Given the description of an element on the screen output the (x, y) to click on. 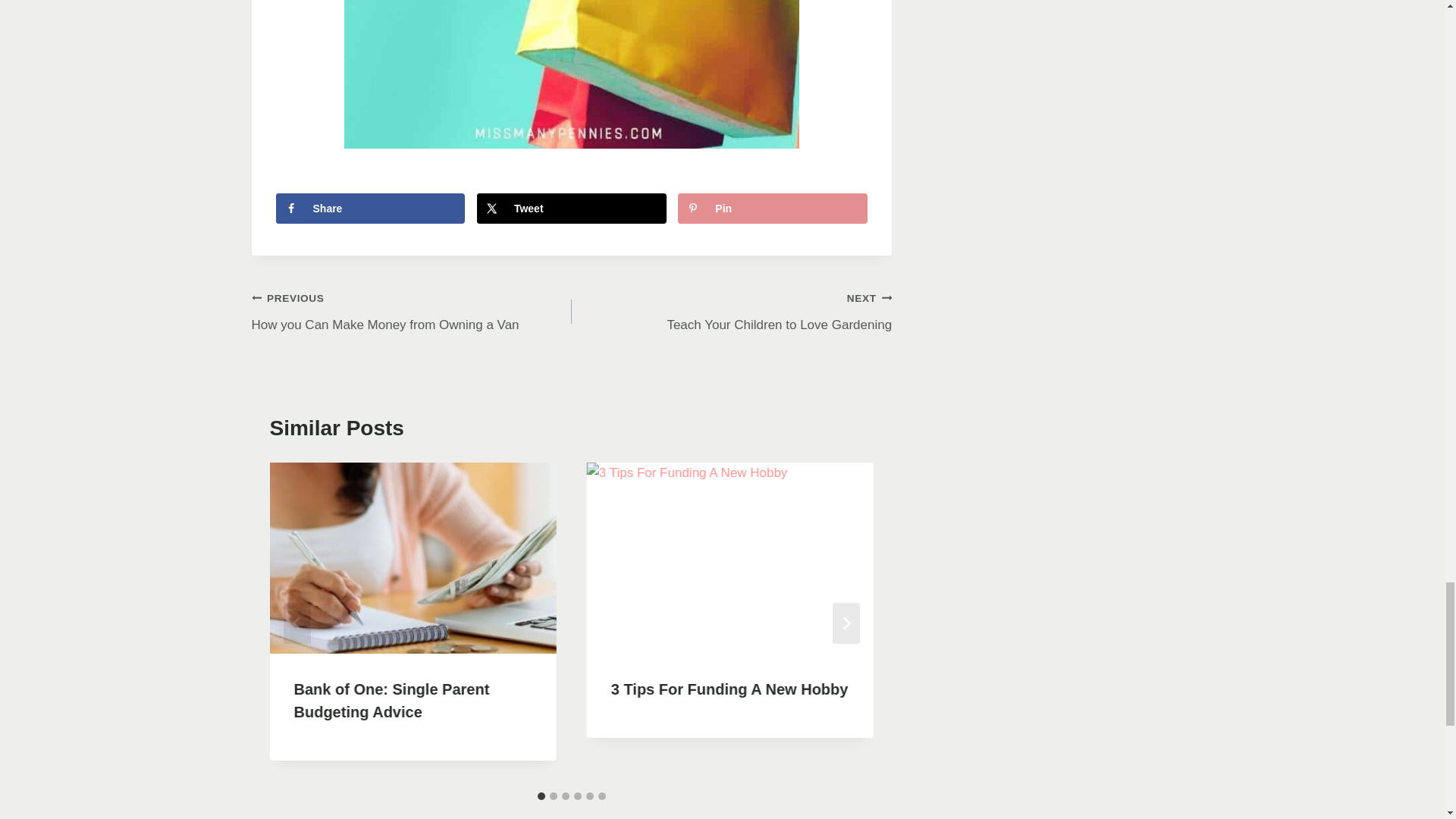
Save to Pinterest (772, 208)
Share on Facebook (731, 310)
Tweet (411, 310)
Share on X (370, 208)
Pin (571, 208)
Share (571, 208)
